Given the description of an element on the screen output the (x, y) to click on. 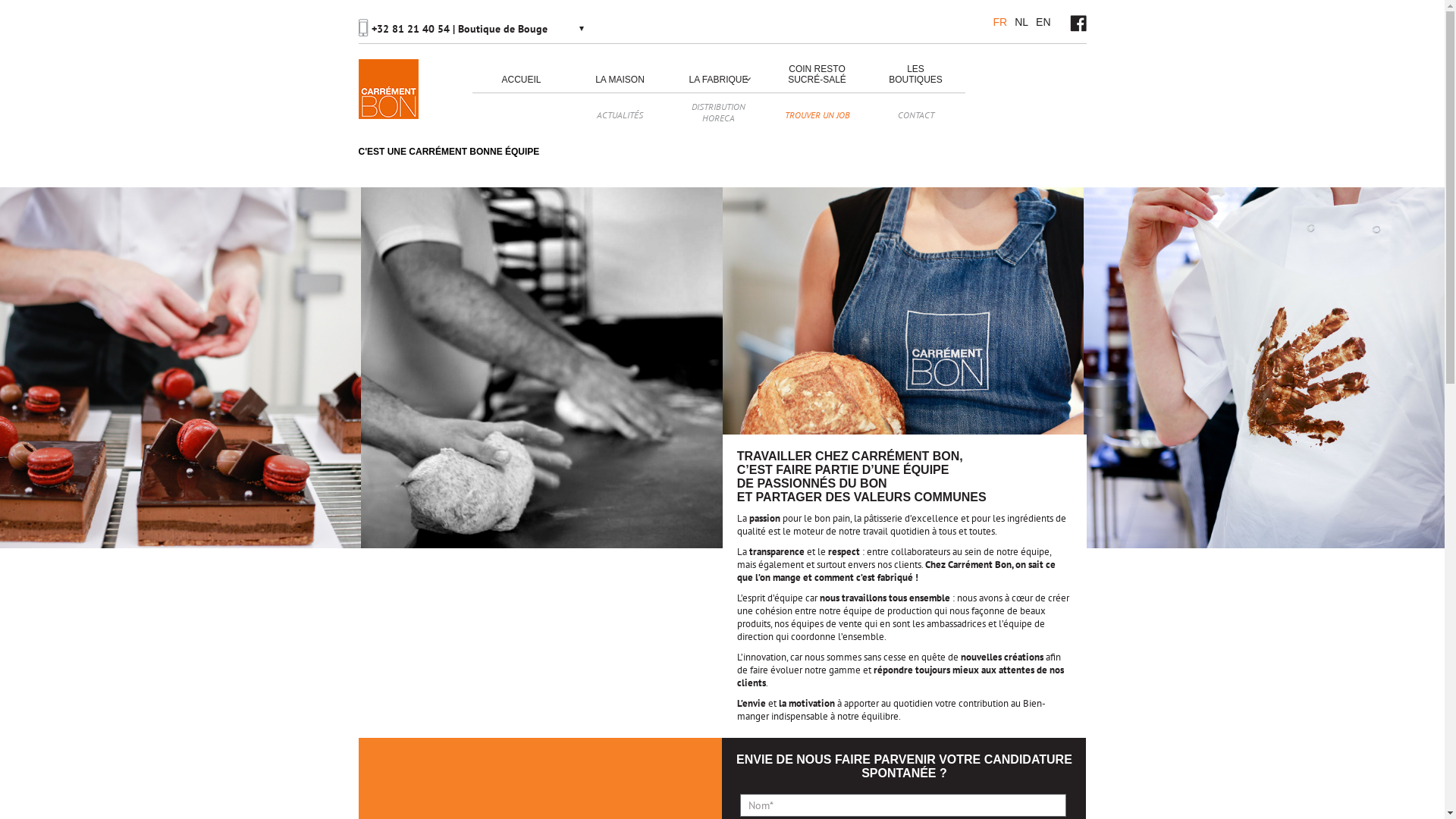
LA MAISON Element type: text (619, 75)
DISTRIBUTION HORECA Element type: text (717, 111)
EN Element type: text (1043, 21)
ACCUEIL Element type: text (520, 75)
CONTACT Element type: text (915, 110)
LES BOUTIQUES Element type: text (915, 75)
FR Element type: text (999, 21)
LA FABRIQUE Element type: text (717, 75)
TROUVER UN JOB Element type: text (816, 110)
NL Element type: text (1021, 21)
